Given the description of an element on the screen output the (x, y) to click on. 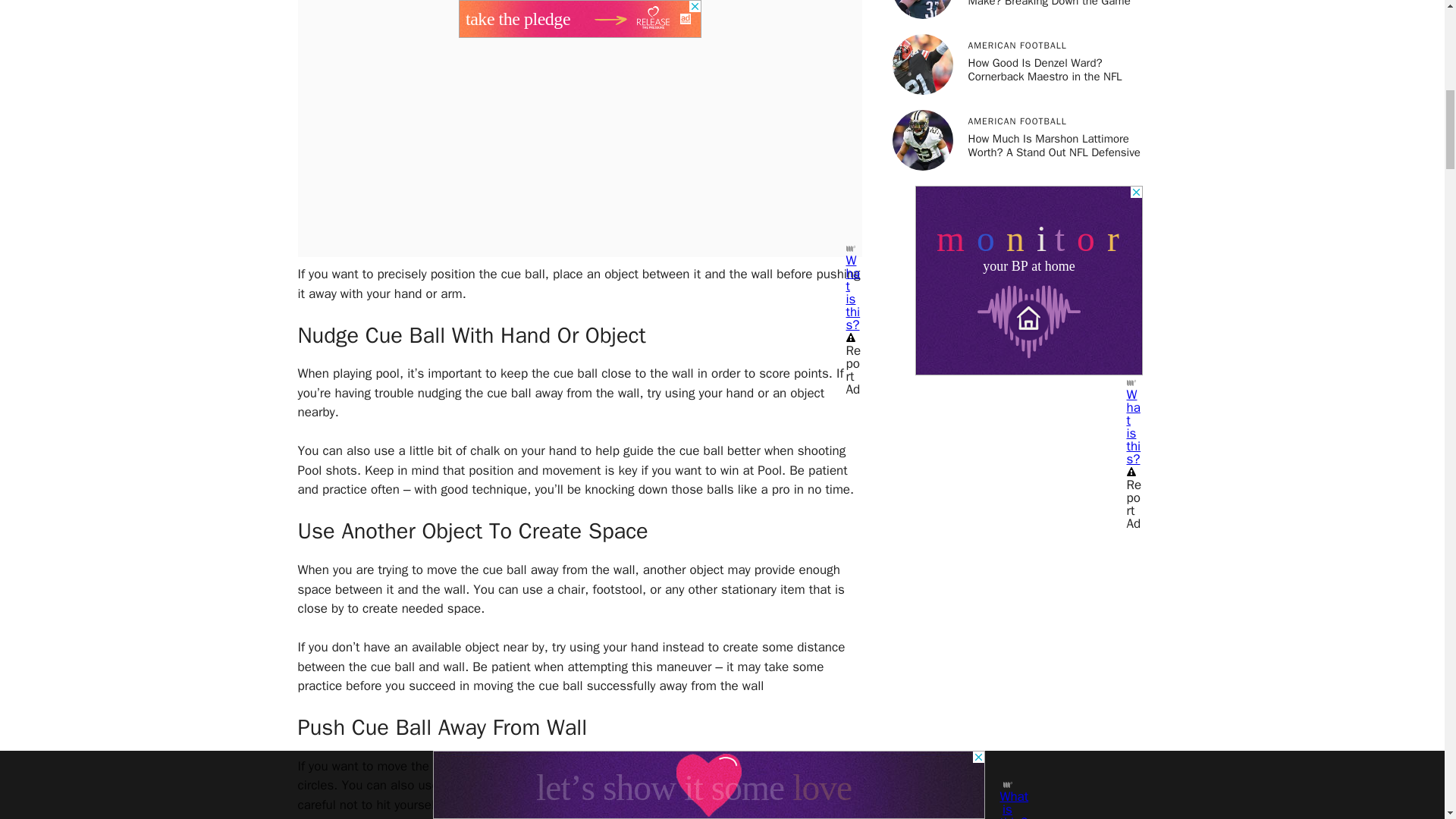
3rd party ad content (1027, 280)
